Given the description of an element on the screen output the (x, y) to click on. 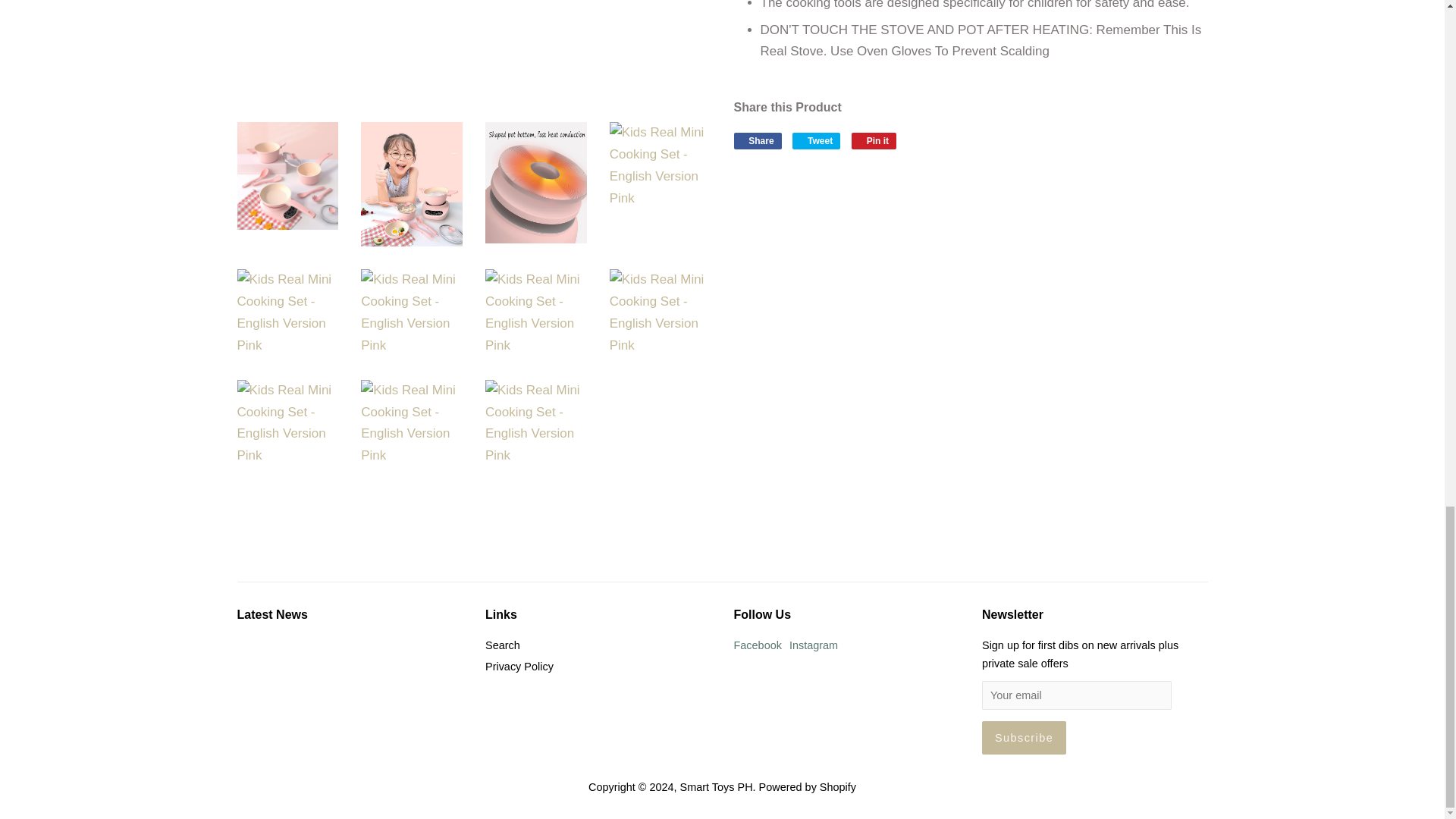
Pin on Pinterest (873, 140)
Smart Toys PH on Facebook (757, 645)
Share on Facebook (757, 140)
Subscribe (1023, 737)
Tweet on Twitter (816, 140)
Smart Toys PH on Instagram (813, 645)
